Given the description of an element on the screen output the (x, y) to click on. 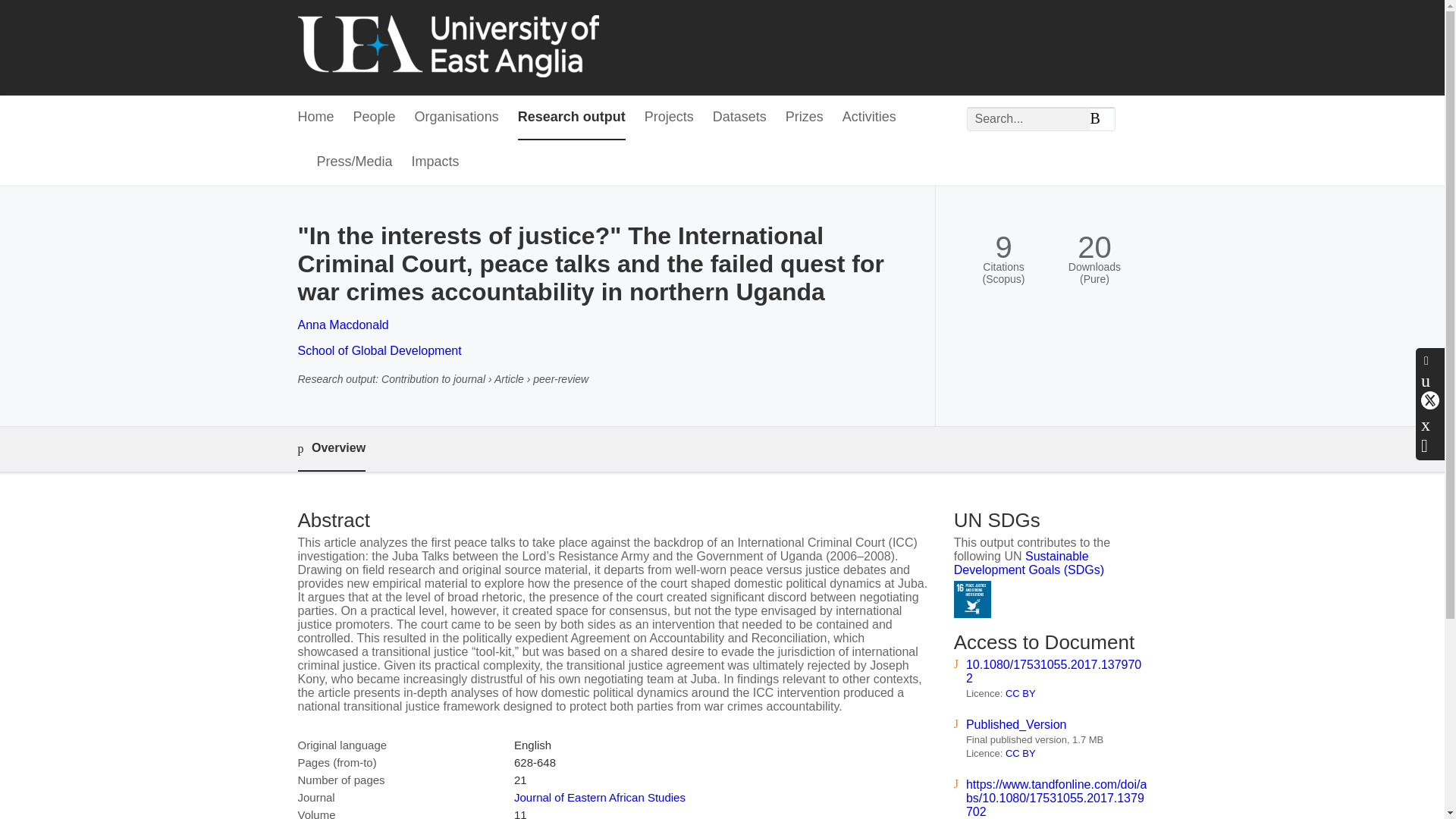
Research output (572, 117)
Journal of Eastern African Studies (599, 797)
Overview (331, 448)
Datasets (740, 117)
Impacts (436, 162)
Projects (669, 117)
People (374, 117)
CC BY (1020, 753)
Organisations (456, 117)
SDG 16 - Peace, Justice and Strong Institutions (972, 599)
